Given the description of an element on the screen output the (x, y) to click on. 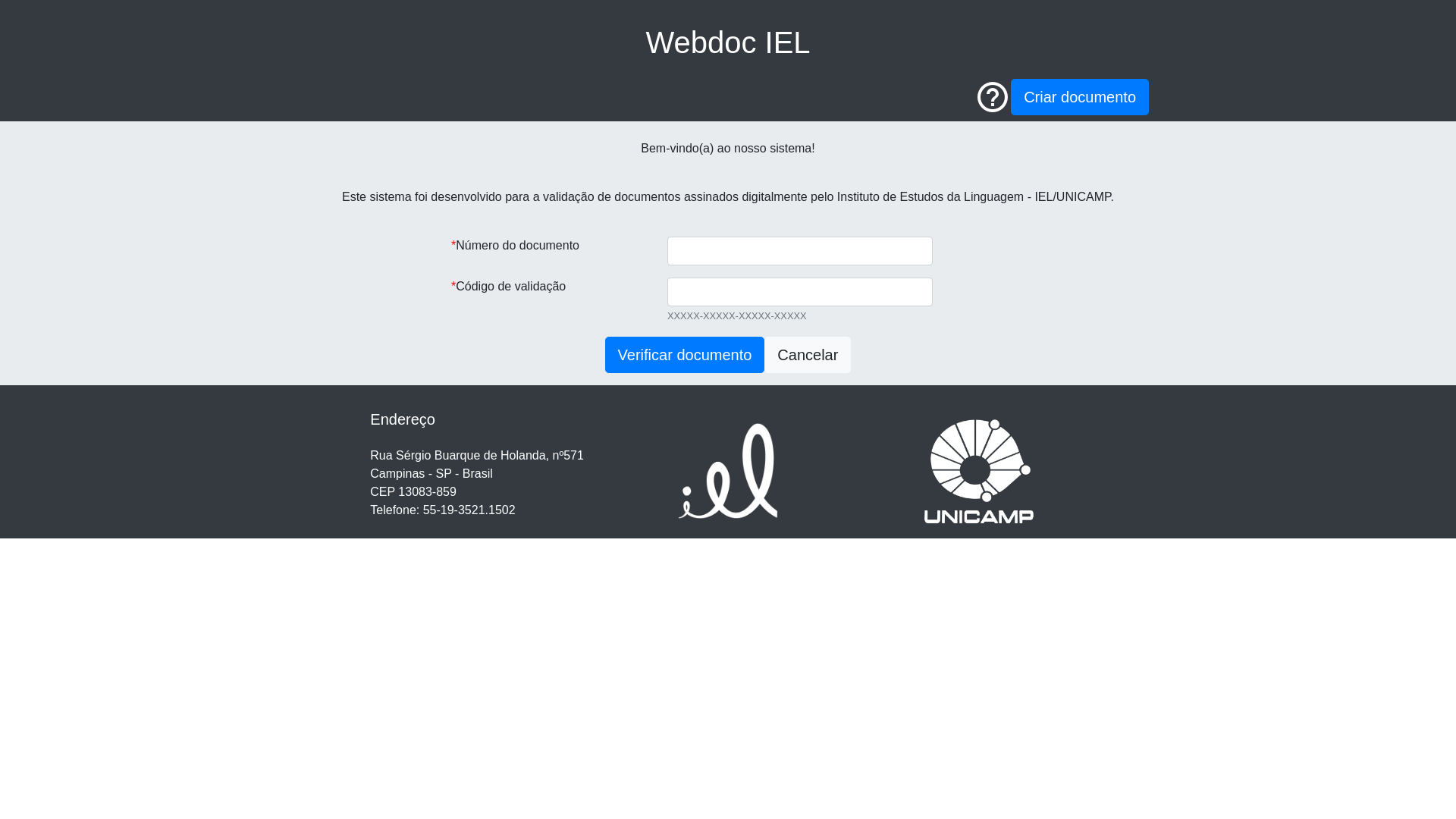
Criar documento Element type: text (1079, 96)
Tutorial Element type: hover (992, 95)
Verificar documento Element type: text (685, 354)
Cancelar Element type: text (807, 354)
Webdoc IEL Element type: text (727, 42)
